Given the description of an element on the screen output the (x, y) to click on. 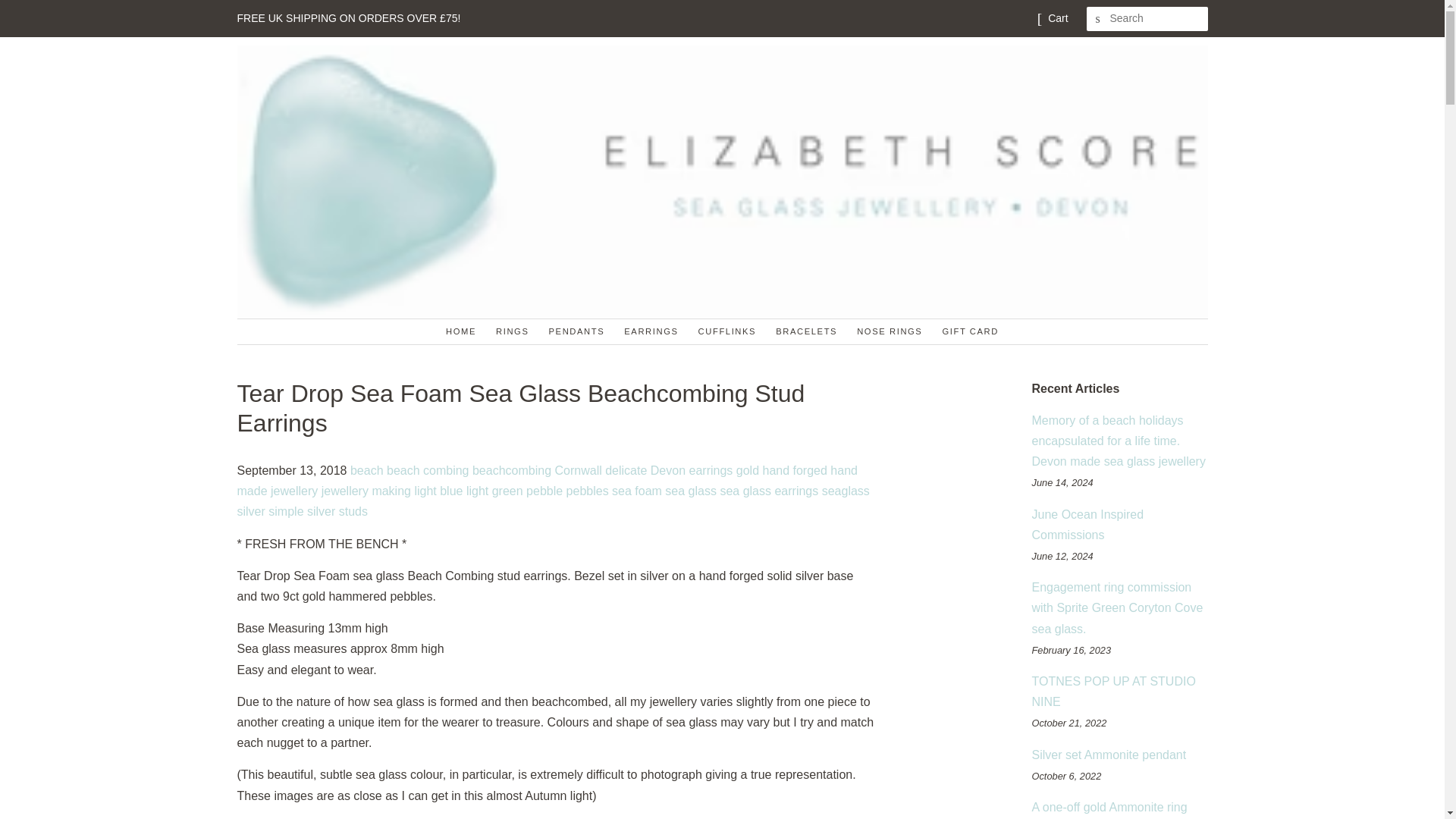
jewellery making (365, 490)
NOSE RINGS (885, 331)
beachcombing (511, 470)
beach (367, 470)
light blue (438, 490)
HOME (462, 331)
hand made (546, 480)
Cart (1057, 18)
light green (493, 490)
PENDANTS (572, 331)
